Given the description of an element on the screen output the (x, y) to click on. 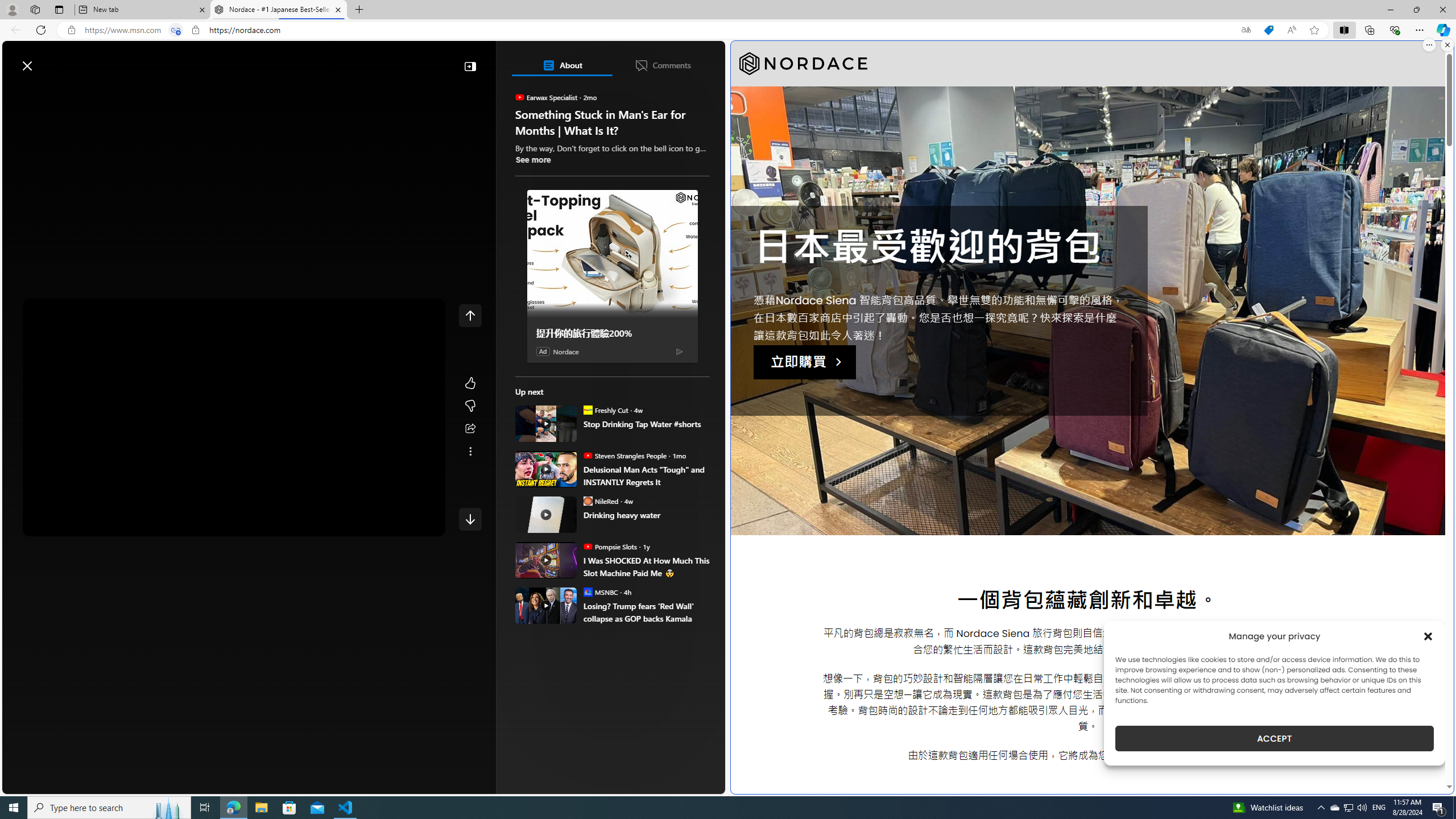
Watch (141, 92)
Pompsie Slots Pompsie Slots (609, 546)
Stop Drinking Tap Water #shorts (545, 423)
Microsoft rewards (654, 60)
Skip to footer (46, 59)
Steven Strangles People Steven Strangles People (624, 455)
ABC News (554, 415)
Dislike (469, 405)
The Associated Press (554, 366)
